Given the description of an element on the screen output the (x, y) to click on. 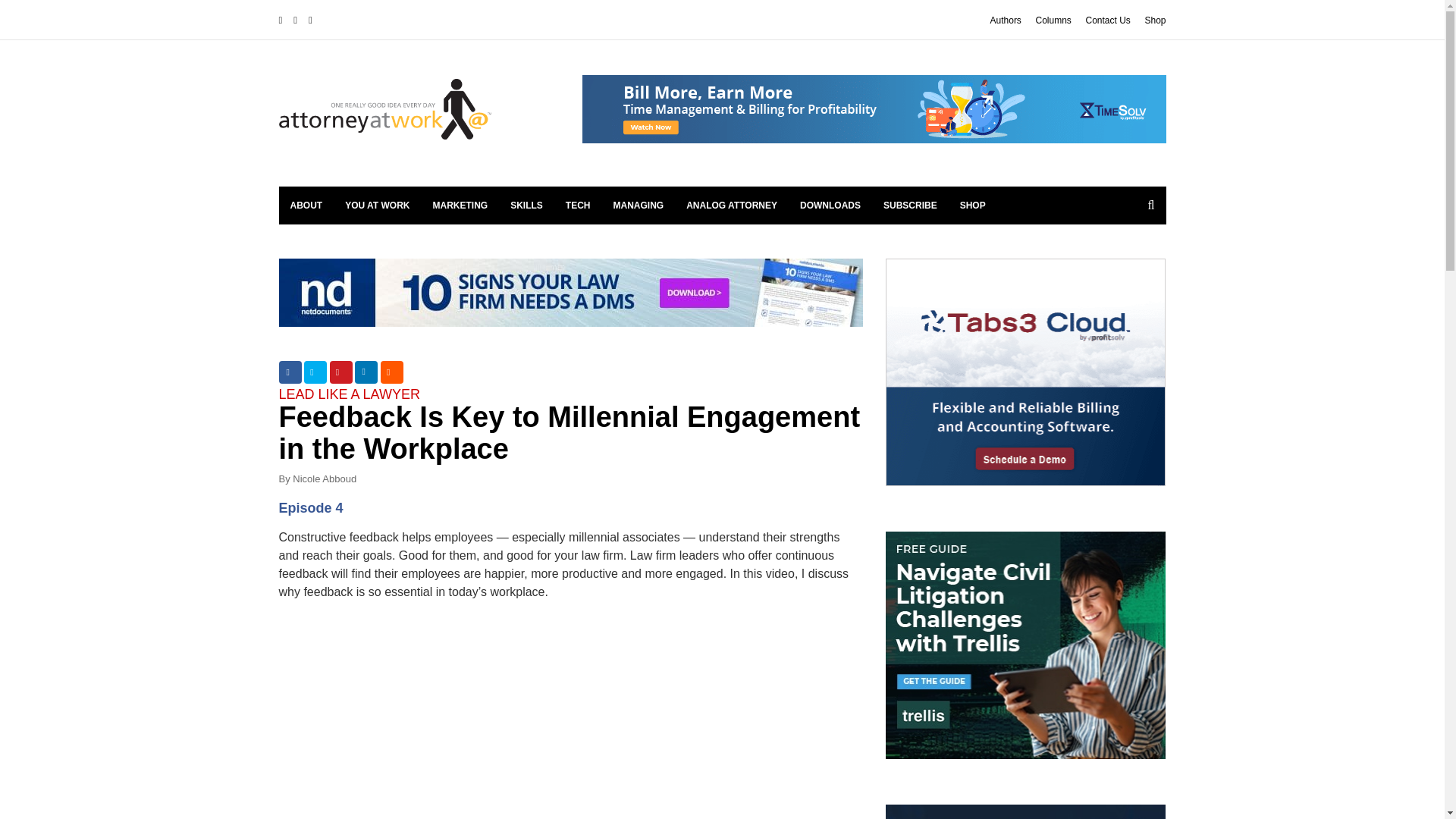
YOU AT WORK (376, 205)
You At Work (376, 205)
MARKETING (460, 205)
About (306, 205)
SKILLS (526, 205)
Marketing (460, 205)
Authors (1006, 20)
Columns (1053, 20)
Contact Us (1106, 20)
MANAGING (638, 205)
